Given the description of an element on the screen output the (x, y) to click on. 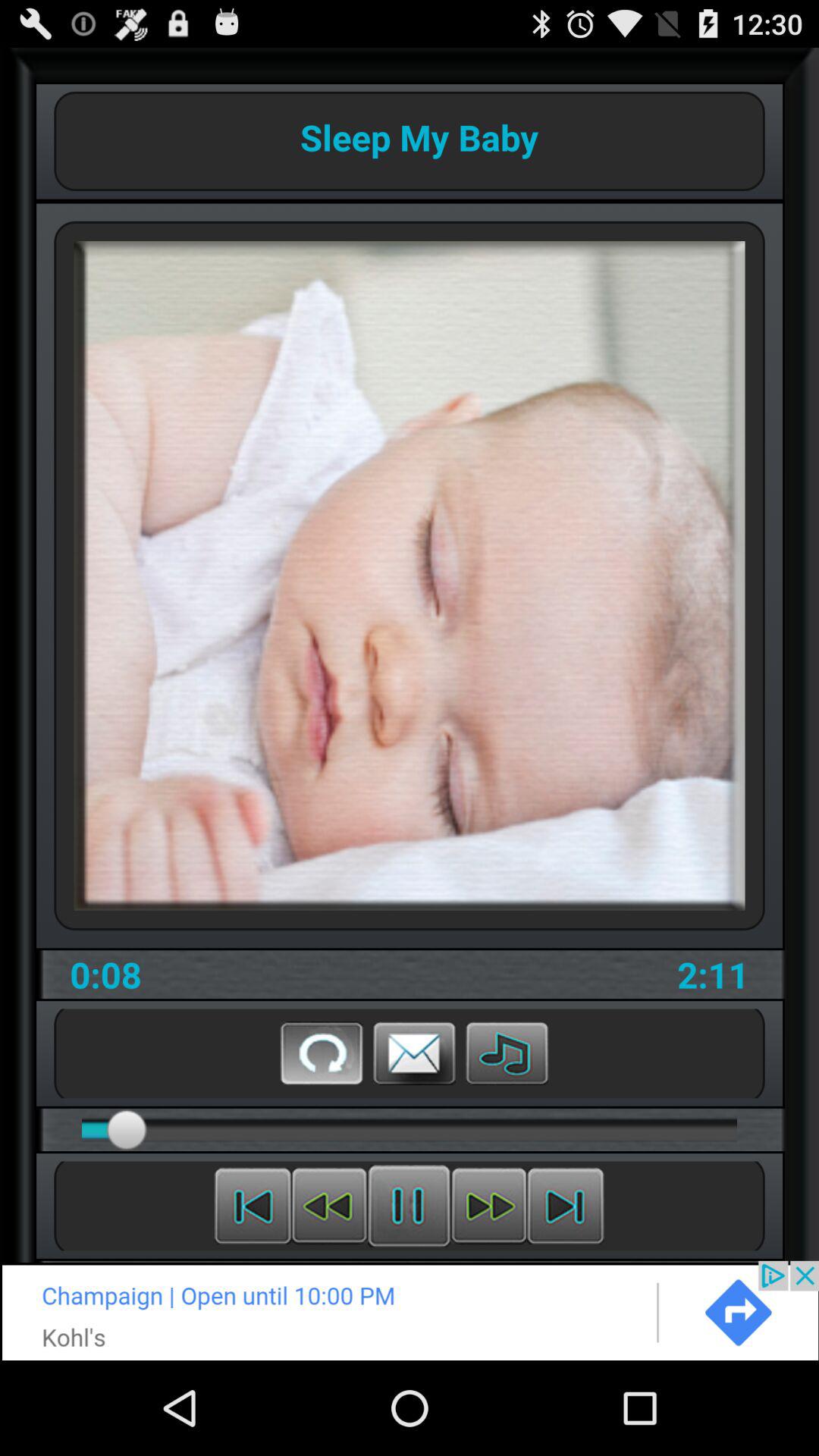
fast forward the given track (488, 1205)
